Given the description of an element on the screen output the (x, y) to click on. 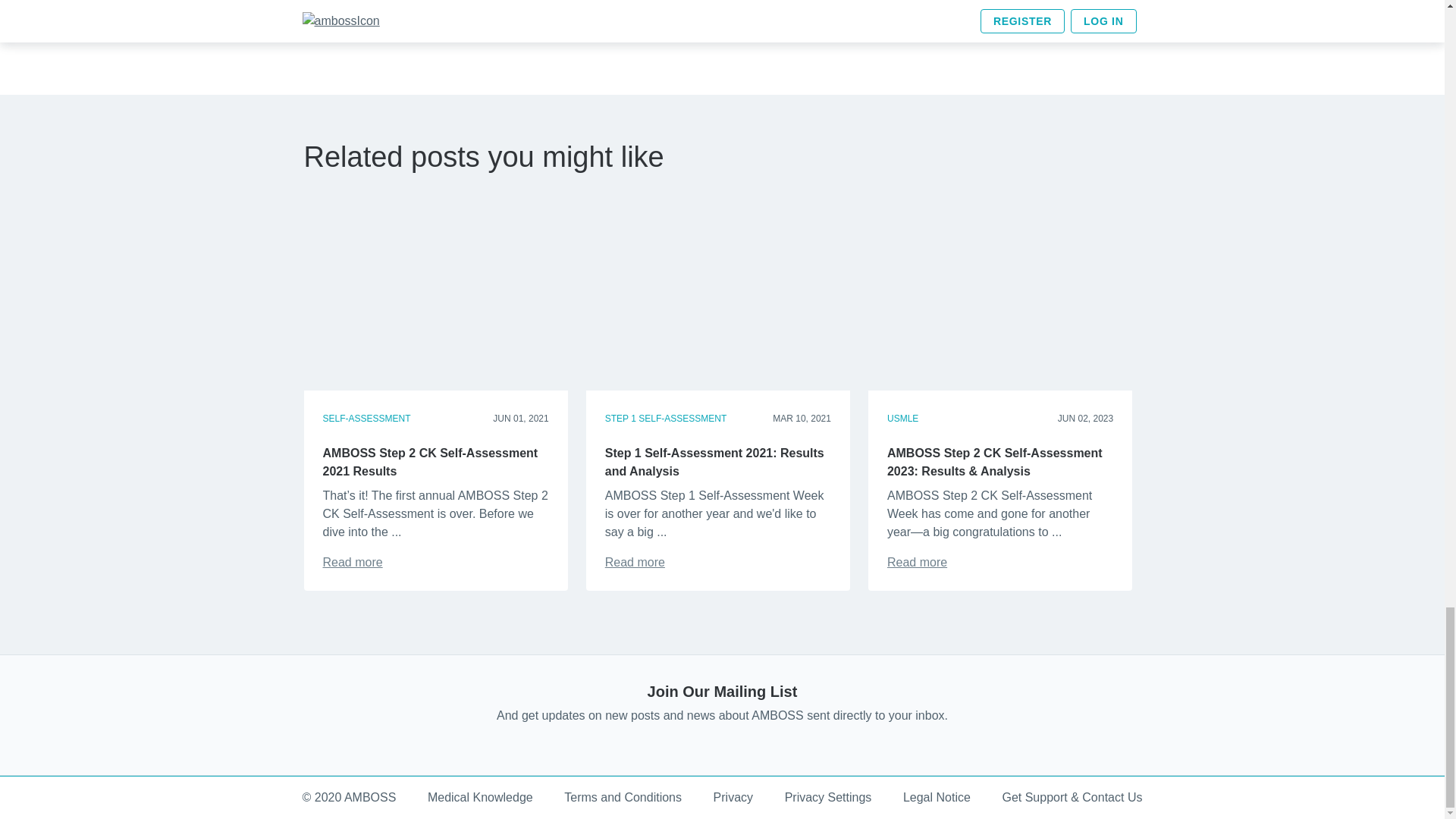
STEP 1 SELF-ASSESSMENT (665, 418)
Terms and Conditions (622, 797)
Read more (635, 562)
Privacy (732, 797)
USMLE (902, 418)
SELF-ASSESSMENT (366, 418)
Medical Knowledge (480, 797)
Read more (352, 562)
Step 1 Self-Assessment 2021: Results and Analysis (635, 562)
Read more (916, 562)
